Given the description of an element on the screen output the (x, y) to click on. 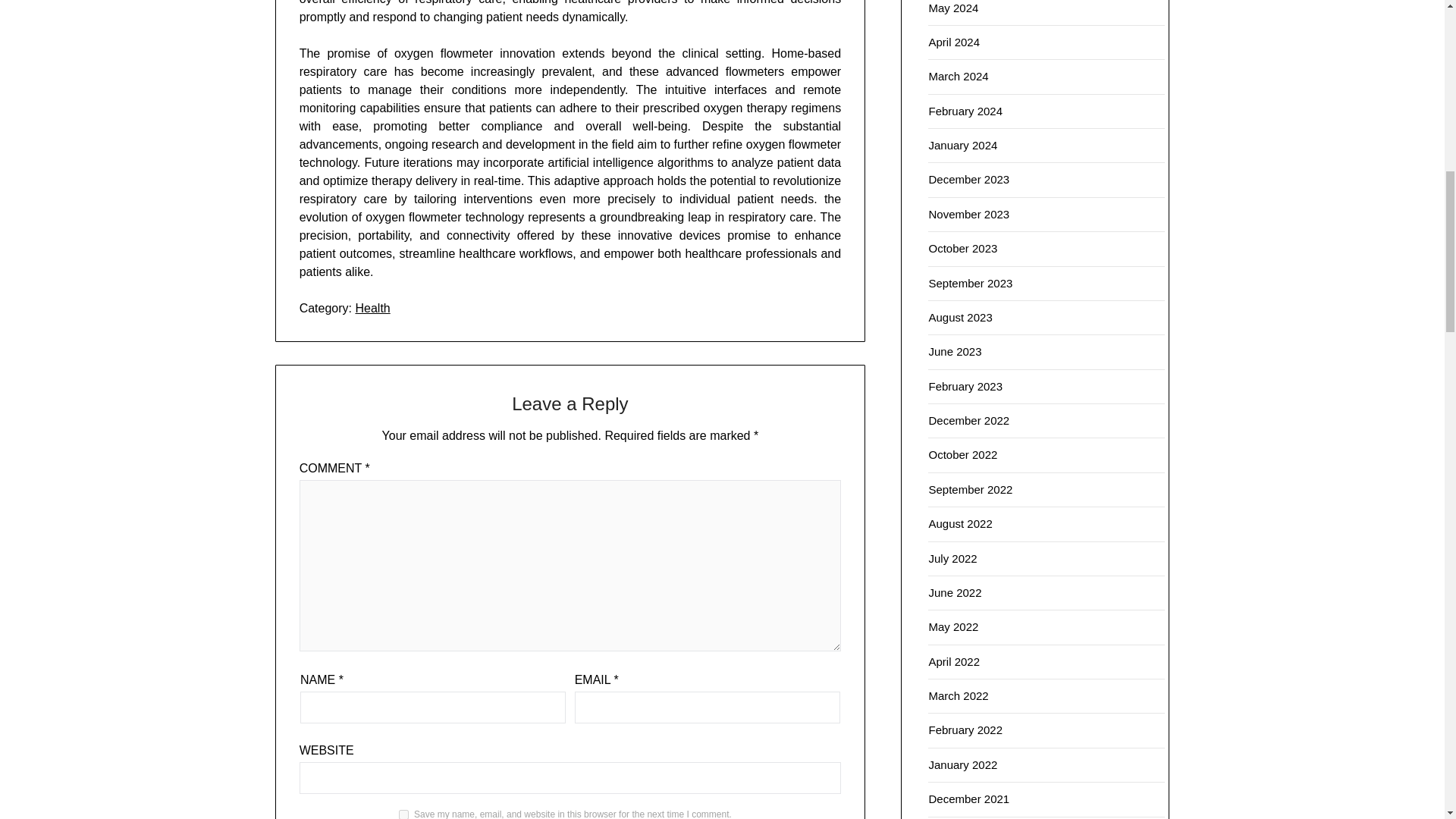
September 2023 (969, 282)
August 2023 (959, 317)
June 2023 (954, 350)
September 2022 (969, 489)
February 2024 (965, 110)
yes (403, 814)
July 2022 (952, 558)
Health (372, 308)
December 2023 (968, 178)
March 2024 (958, 75)
January 2024 (962, 144)
May 2024 (953, 7)
August 2022 (959, 522)
October 2023 (962, 247)
October 2022 (962, 454)
